Given the description of an element on the screen output the (x, y) to click on. 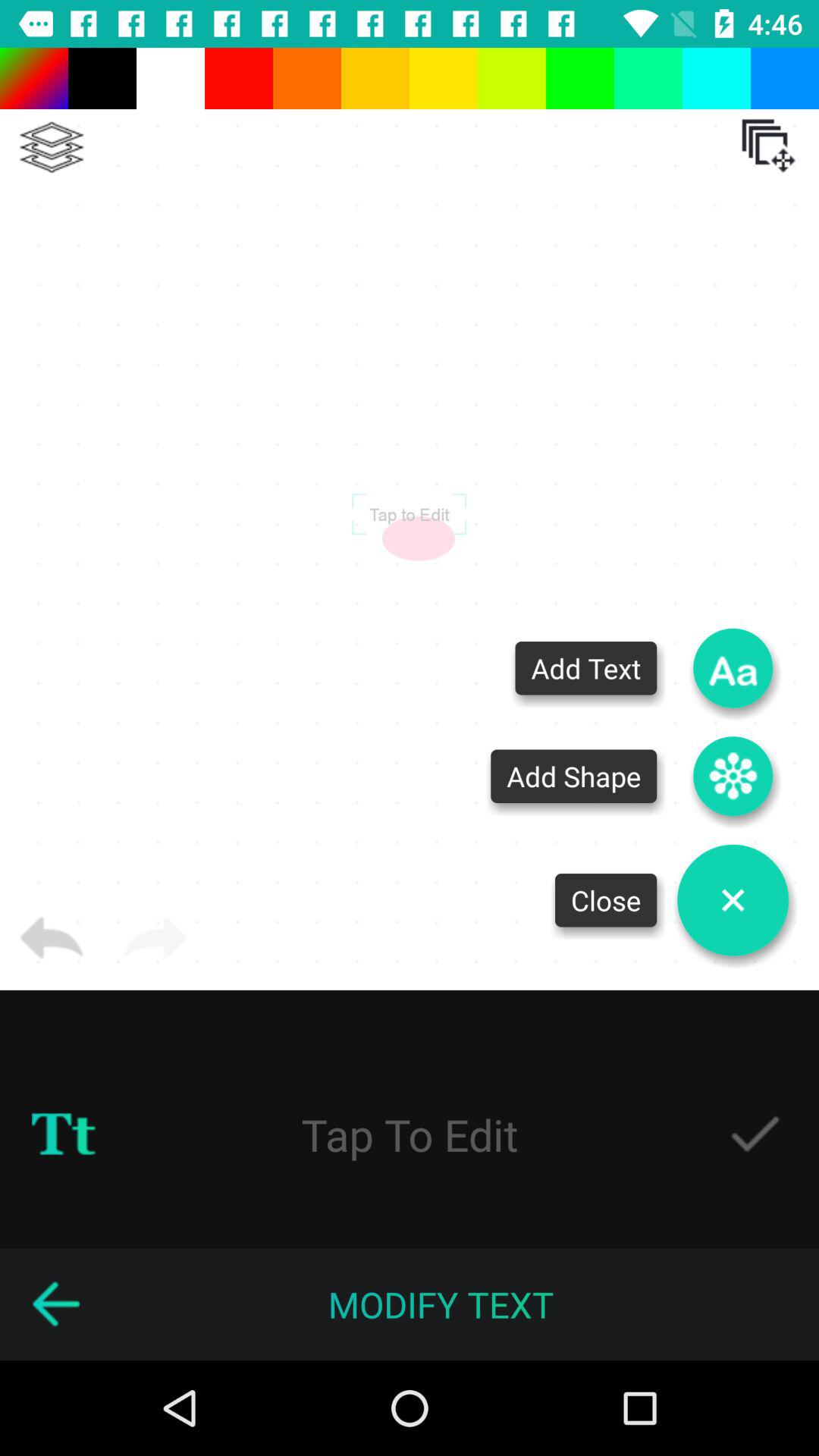
enable tap to edit feature (755, 1134)
